Given the description of an element on the screen output the (x, y) to click on. 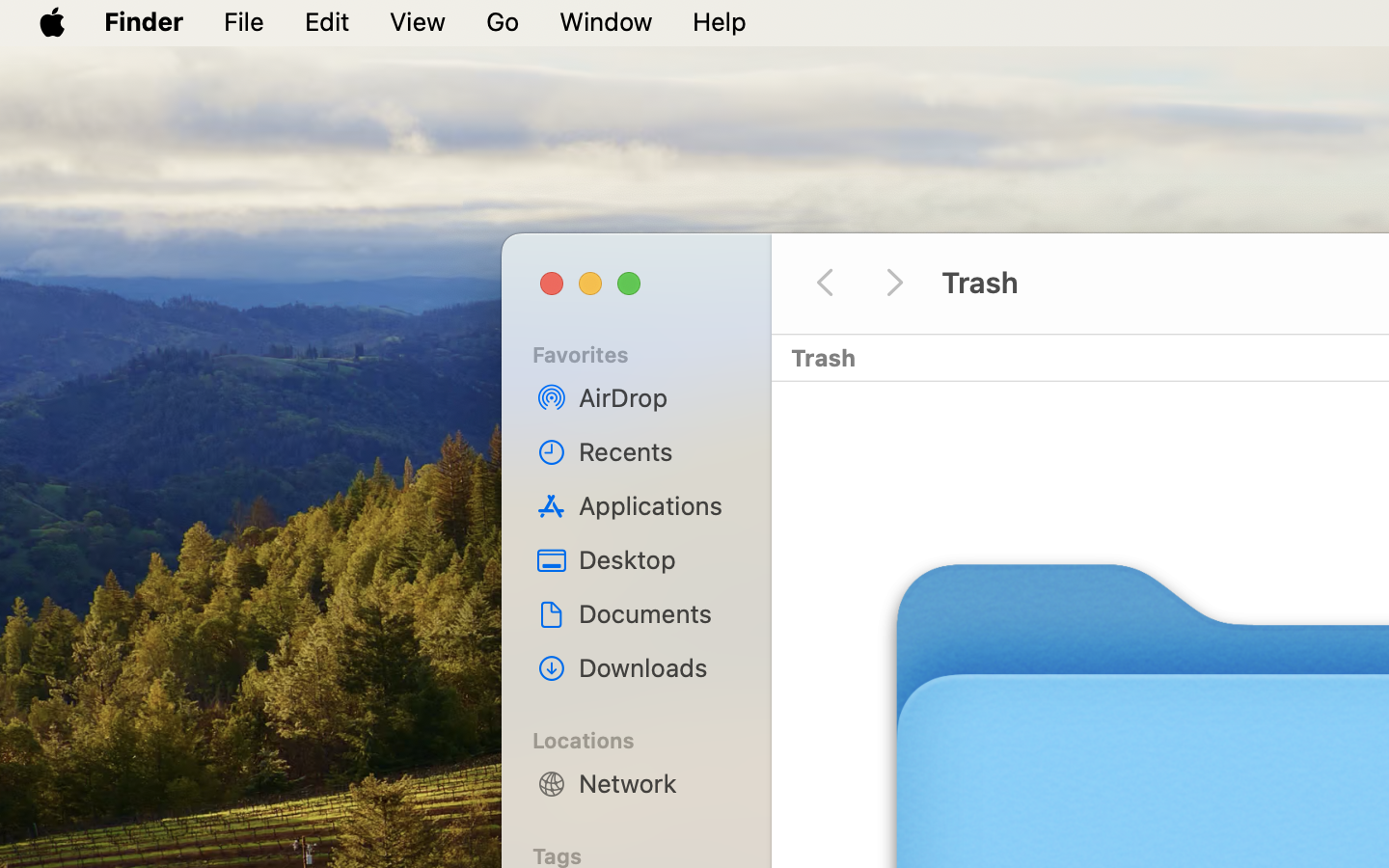
Trash Element type: AXStaticText (1159, 283)
AirDrop Element type: AXStaticText (656, 396)
Applications Element type: AXStaticText (656, 504)
Network Element type: AXStaticText (656, 782)
Locations Element type: AXStaticText (646, 737)
